Given the description of an element on the screen output the (x, y) to click on. 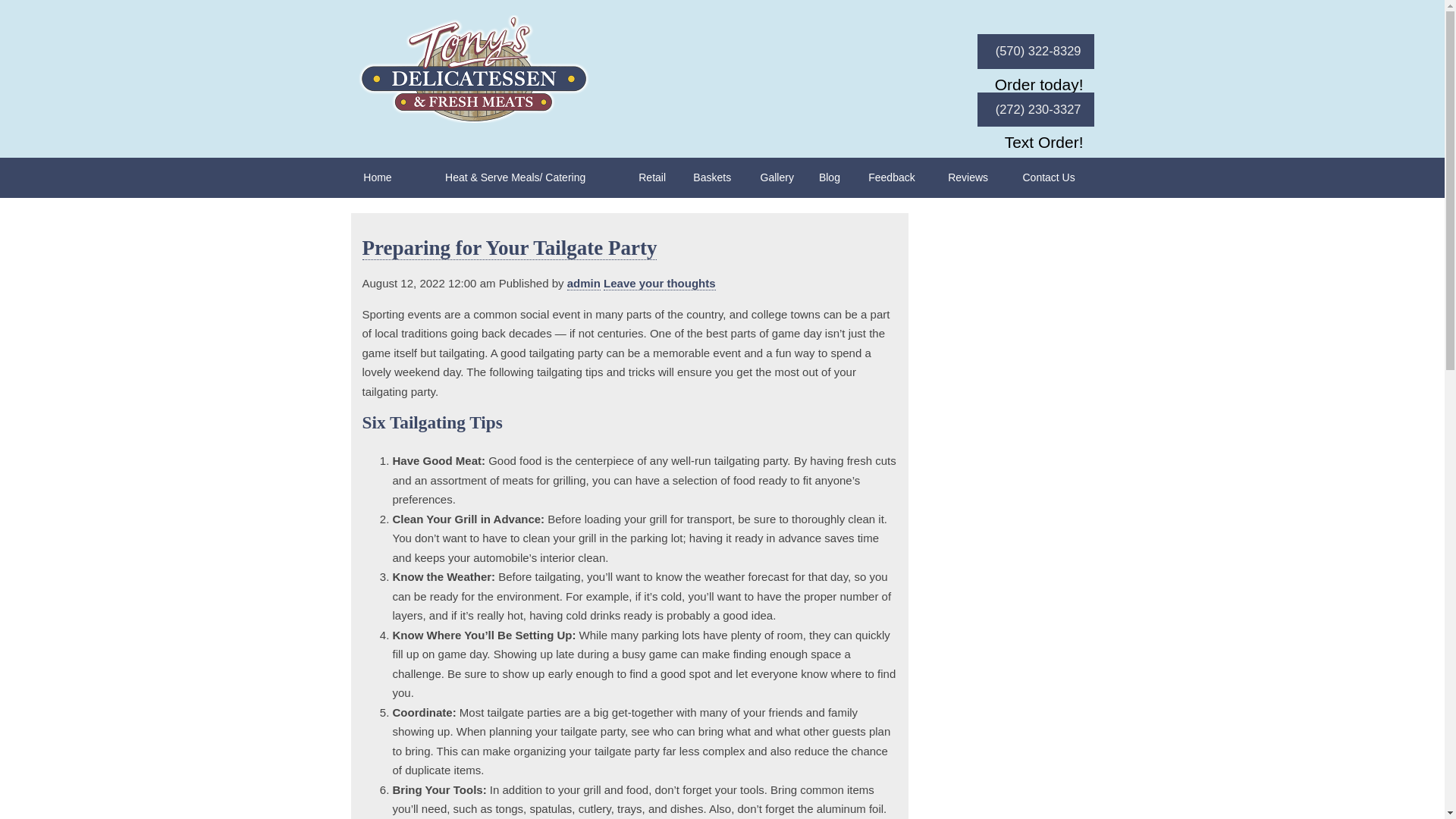
Reviews (967, 177)
Preparing for Your Tailgate Party (510, 248)
Home (376, 177)
Retail (651, 177)
Contact Us (1047, 177)
Feedback (891, 177)
Preparing for Your Tailgate Party (510, 248)
Posts by admin (583, 283)
Baskets (711, 177)
admin (583, 283)
Blog (829, 177)
Gallery (777, 177)
Leave your thoughts (660, 283)
